Given the description of an element on the screen output the (x, y) to click on. 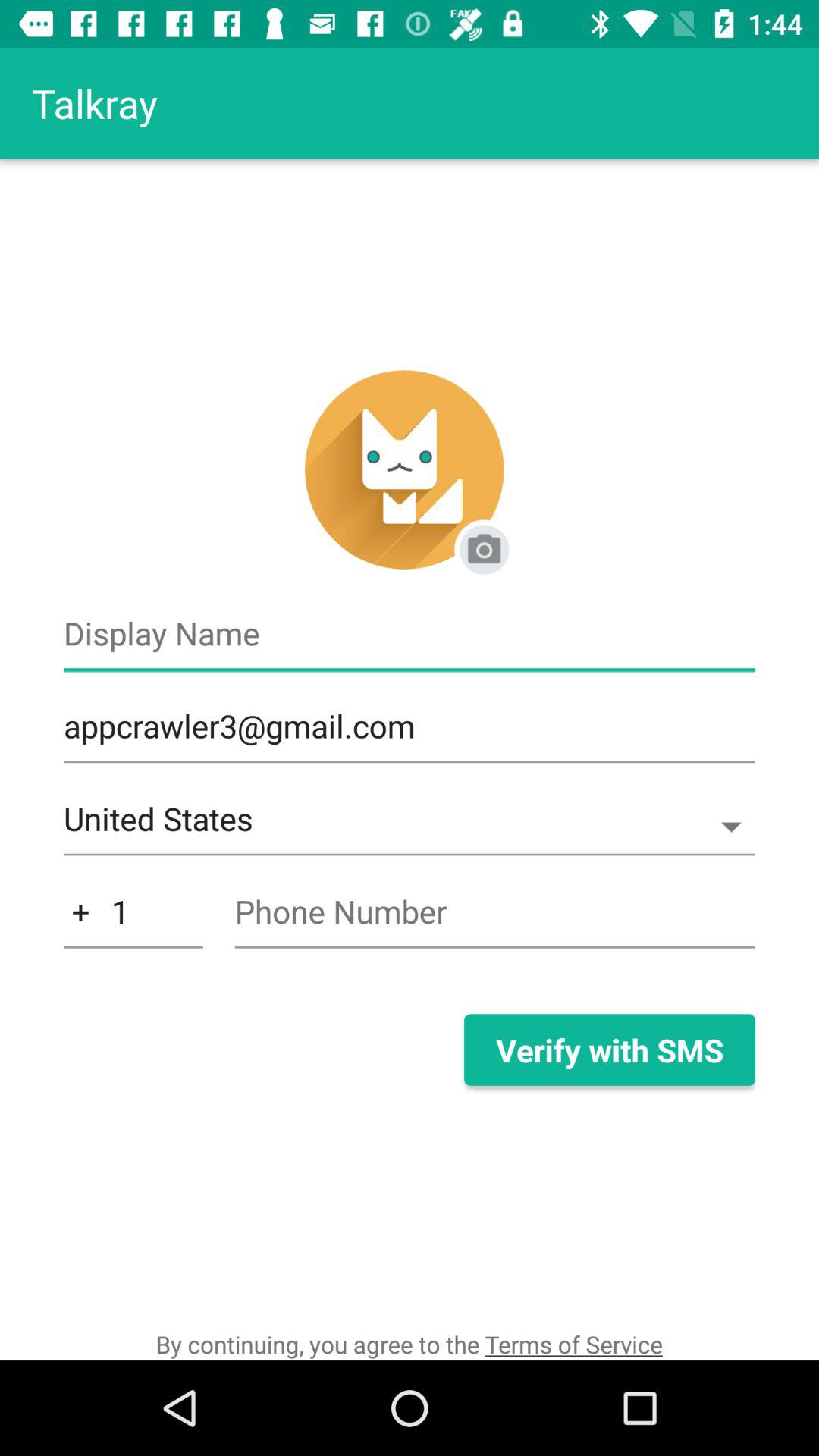
turn off the 1 icon (133, 919)
